Given the description of an element on the screen output the (x, y) to click on. 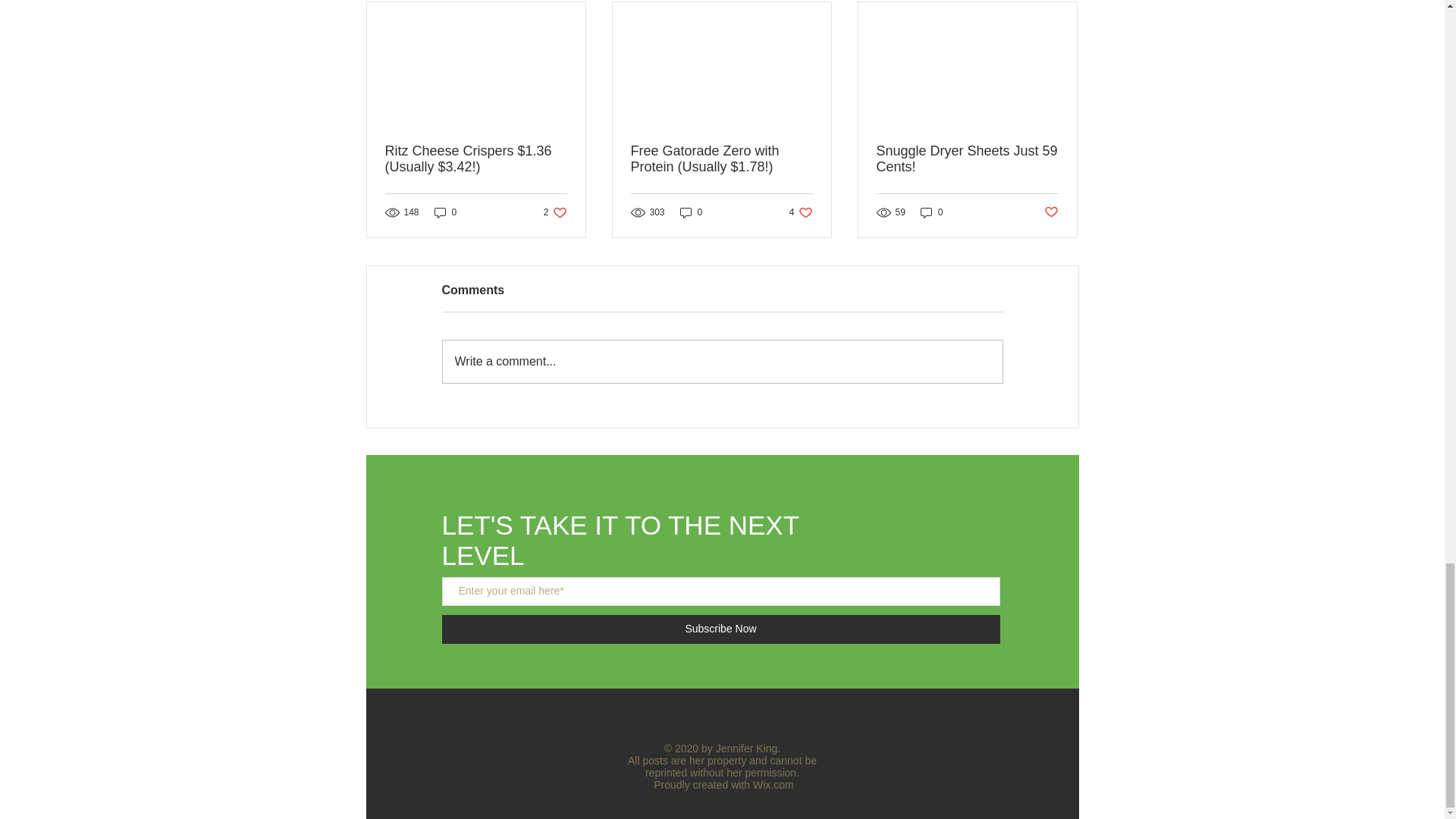
0 (555, 212)
